Given the description of an element on the screen output the (x, y) to click on. 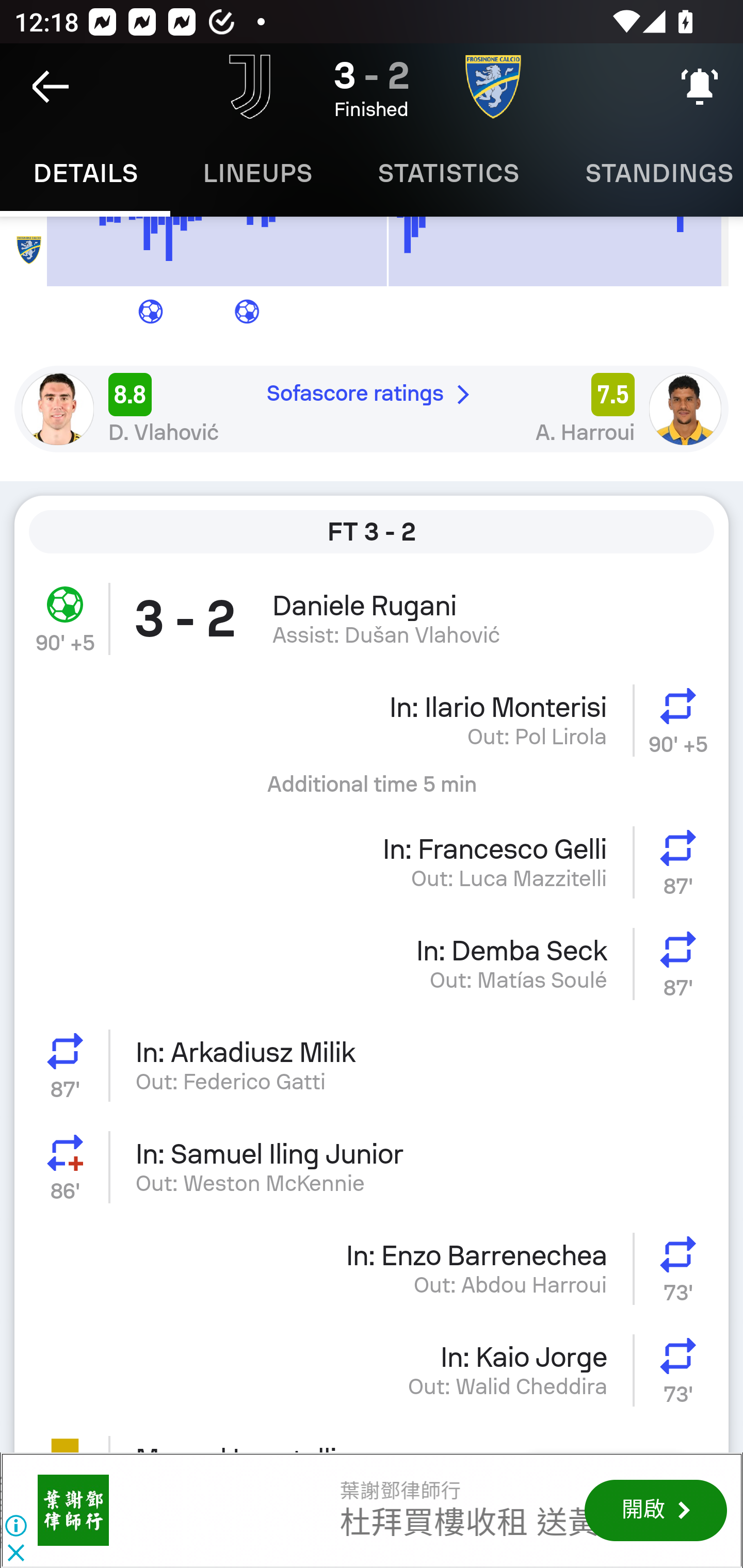
Navigate up (50, 86)
Lineups LINEUPS (257, 173)
Statistics STATISTICS (448, 173)
Standings STANDINGS (647, 173)
8.8 Sofascore ratings 7.5 D. Vlahović A. Harroui (371, 408)
FT 3 - 2 (371, 531)
Additional time 5 min (371, 790)
In: Demba Seck Out: Matías Soulé Substitution 87' (371, 963)
葉謝鄧律師行 (73, 1510)
開啟 (655, 1509)
